Given the description of an element on the screen output the (x, y) to click on. 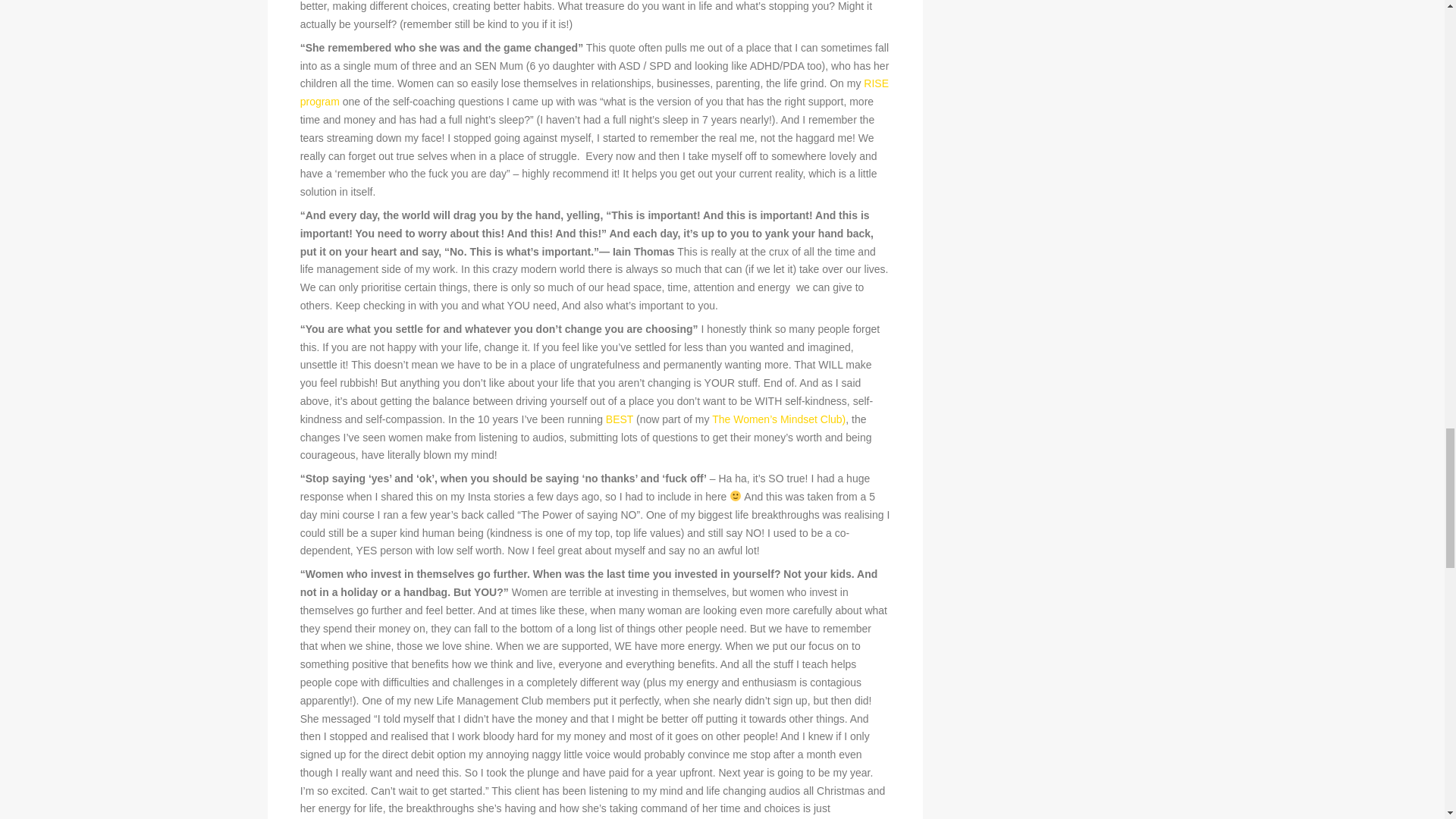
RISE program (593, 91)
BEST (619, 419)
